Given the description of an element on the screen output the (x, y) to click on. 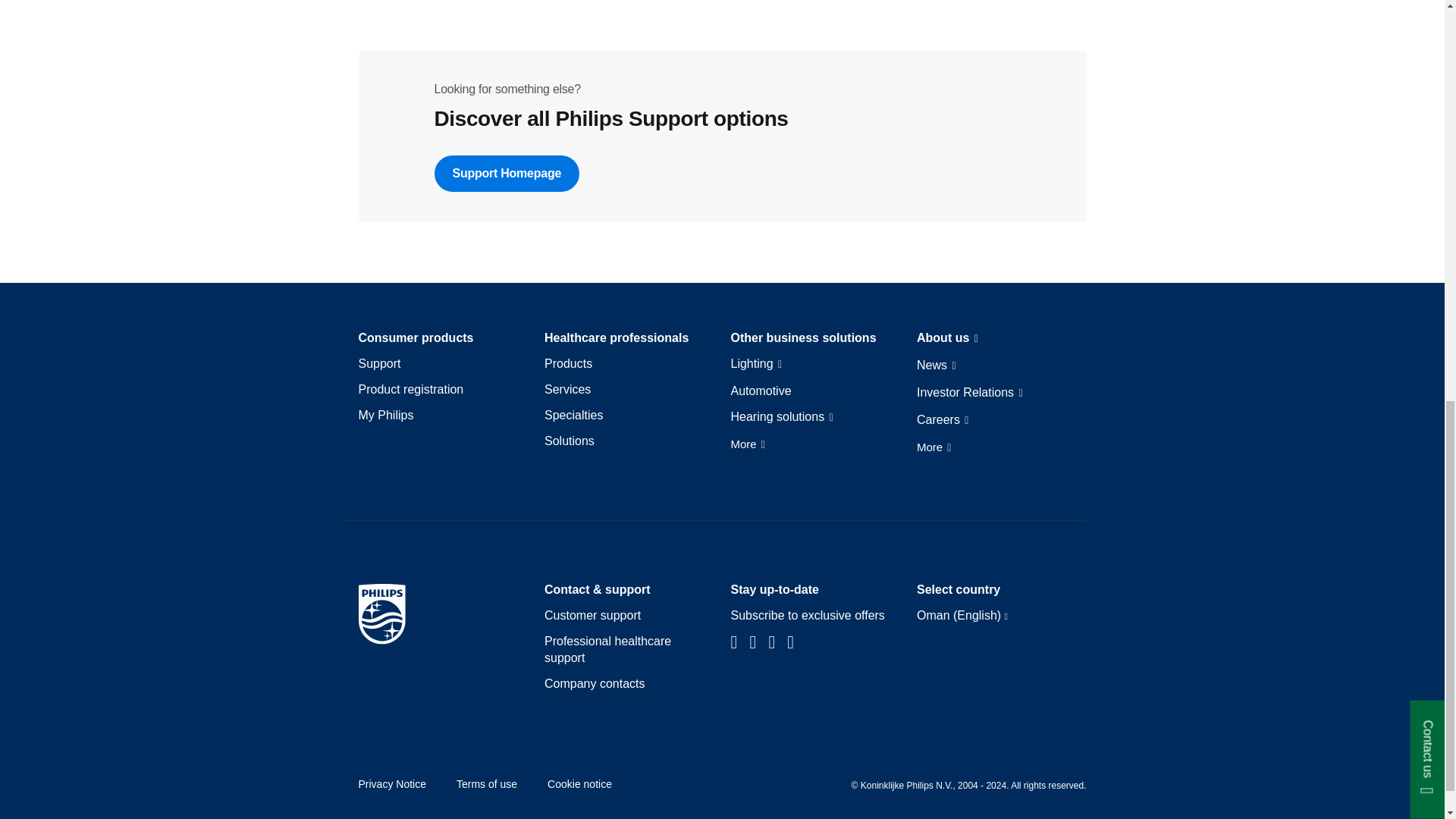
About us (947, 339)
Products (568, 363)
Automotive (761, 391)
Support (379, 363)
Specialties (573, 415)
Solutions (569, 441)
Healthcare professionals (616, 338)
Services (567, 389)
Consumer products (415, 338)
Product registration (410, 389)
My Philips (385, 415)
